Given the description of an element on the screen output the (x, y) to click on. 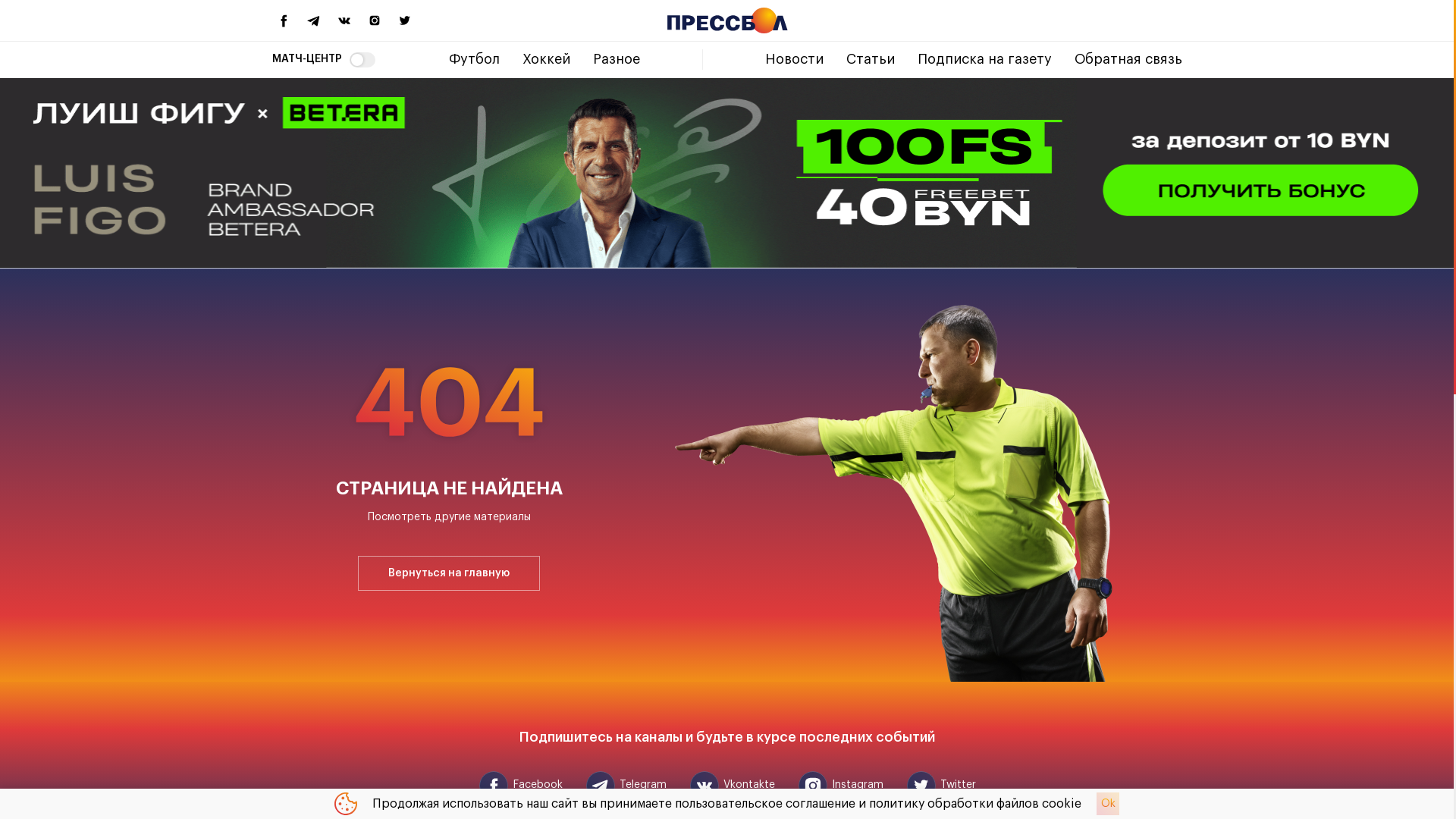
Twitter Element type: text (940, 785)
Telegram Element type: text (625, 785)
Facebook Element type: text (519, 785)
Instagram Element type: text (840, 785)
Vkontakte Element type: text (731, 785)
